Given the description of an element on the screen output the (x, y) to click on. 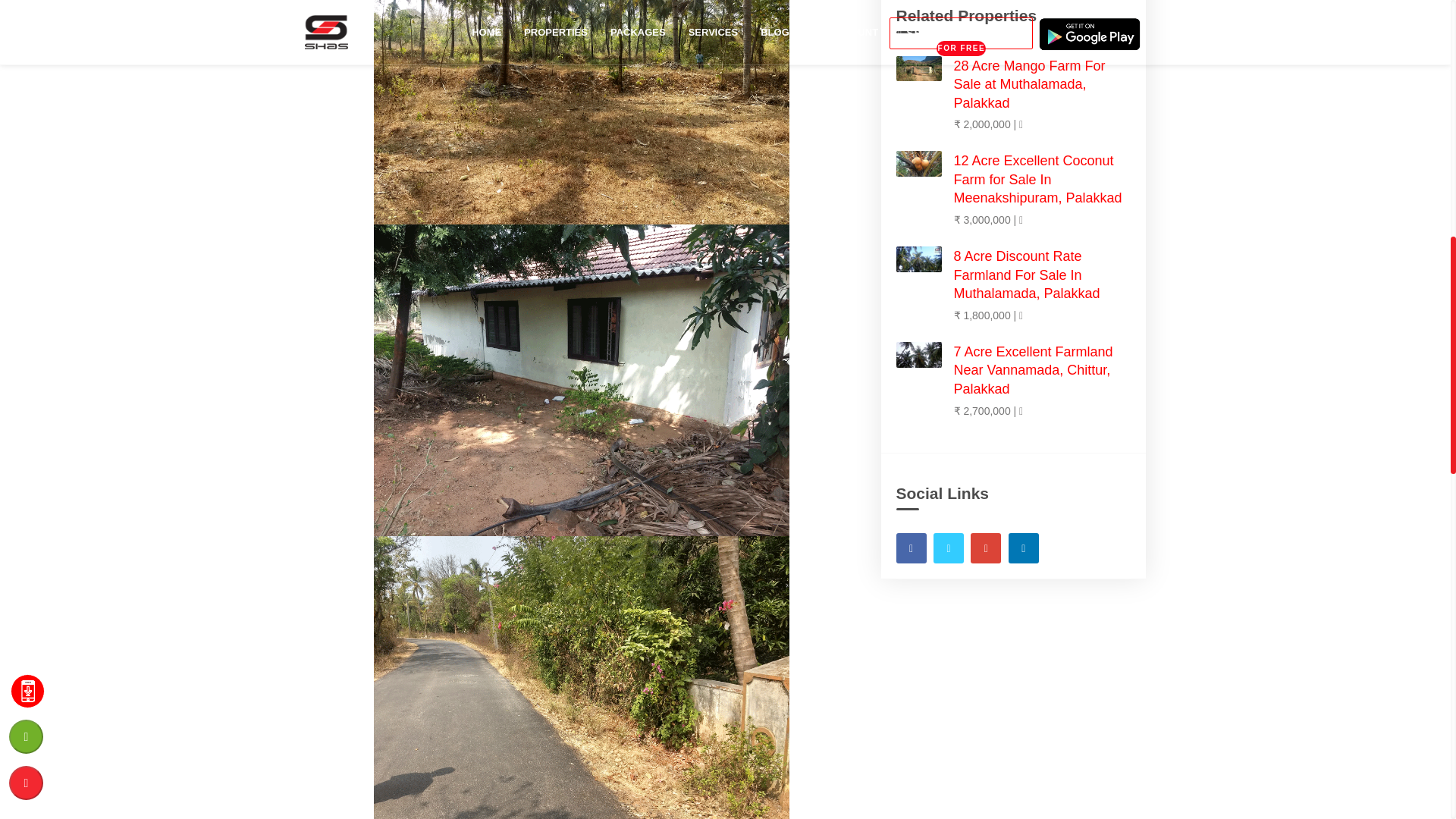
7 Acre Excellent Farmland Near Vannamada, Chittur, Palakkad (1033, 369)
28 Acre Mango Farm For Sale at Muthalamada, Palakkad (1029, 83)
